Given the description of an element on the screen output the (x, y) to click on. 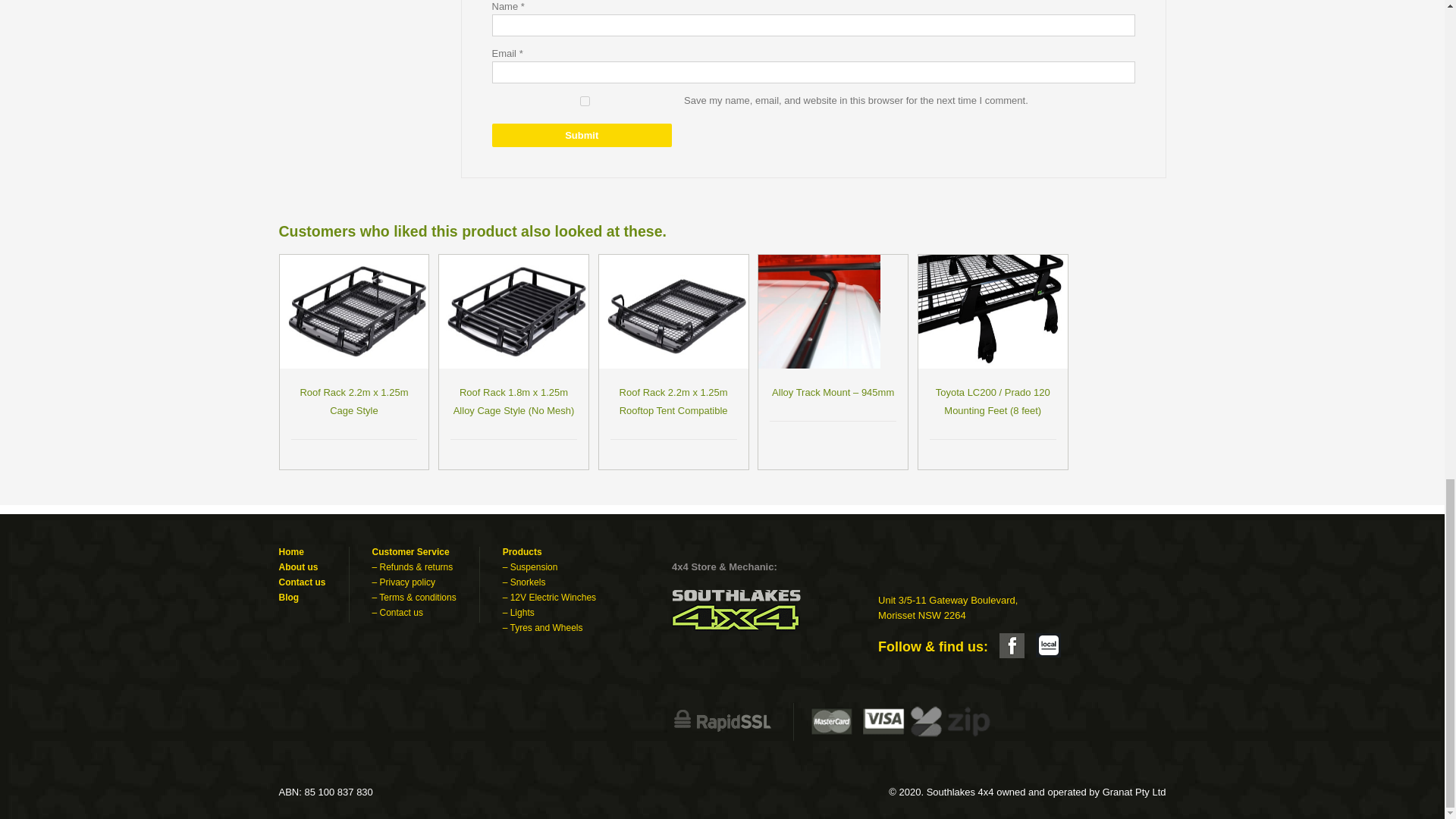
Submit (581, 135)
yes (584, 101)
